Given the description of an element on the screen output the (x, y) to click on. 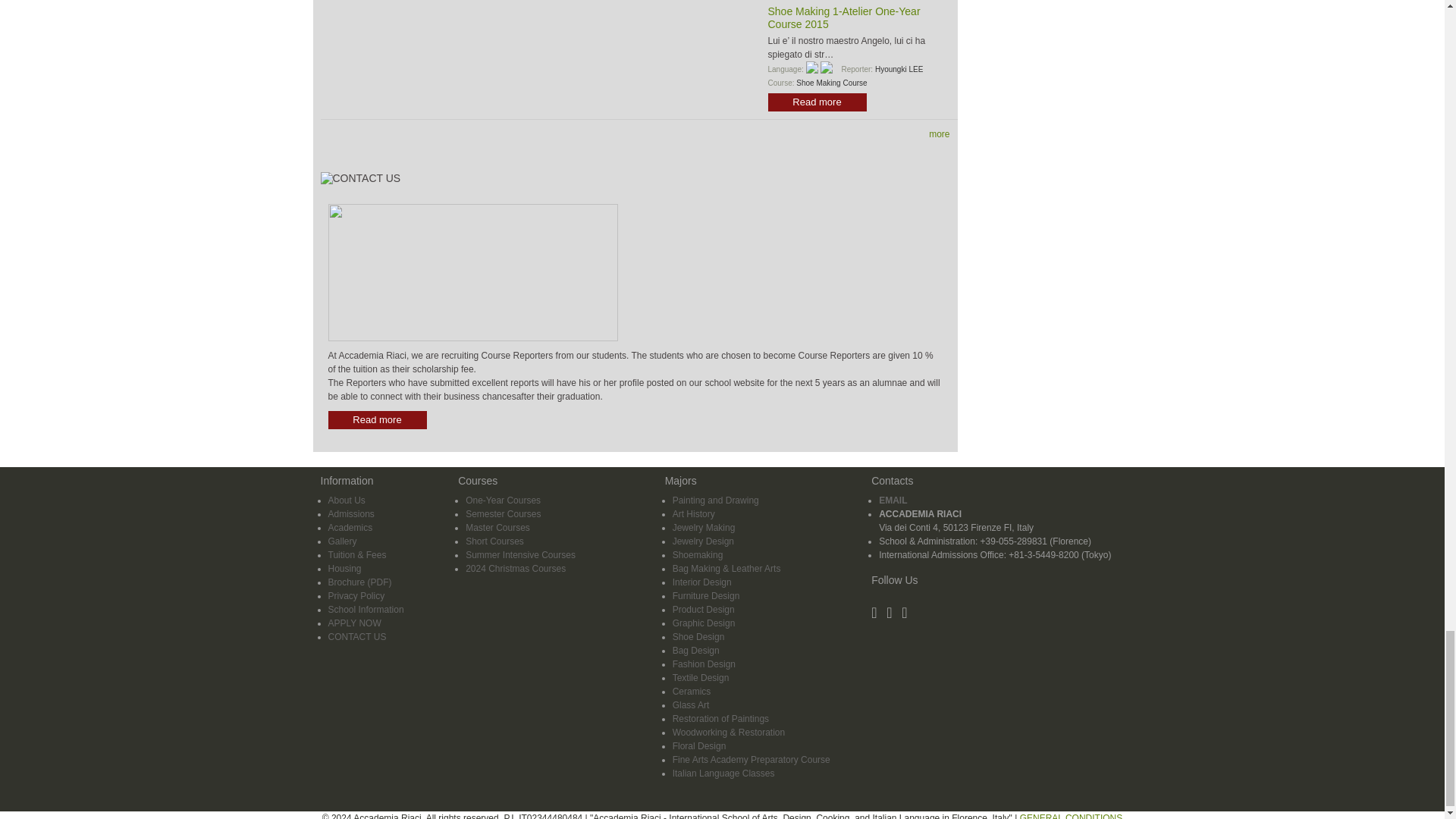
One-Year Course (502, 500)
Master Course (497, 527)
Academics (349, 527)
Housing (344, 568)
Christmas Courses (515, 568)
Semester Course (502, 513)
Summer Course (520, 554)
school information (365, 609)
privacy policy (355, 595)
Short Course (494, 541)
